Given the description of an element on the screen output the (x, y) to click on. 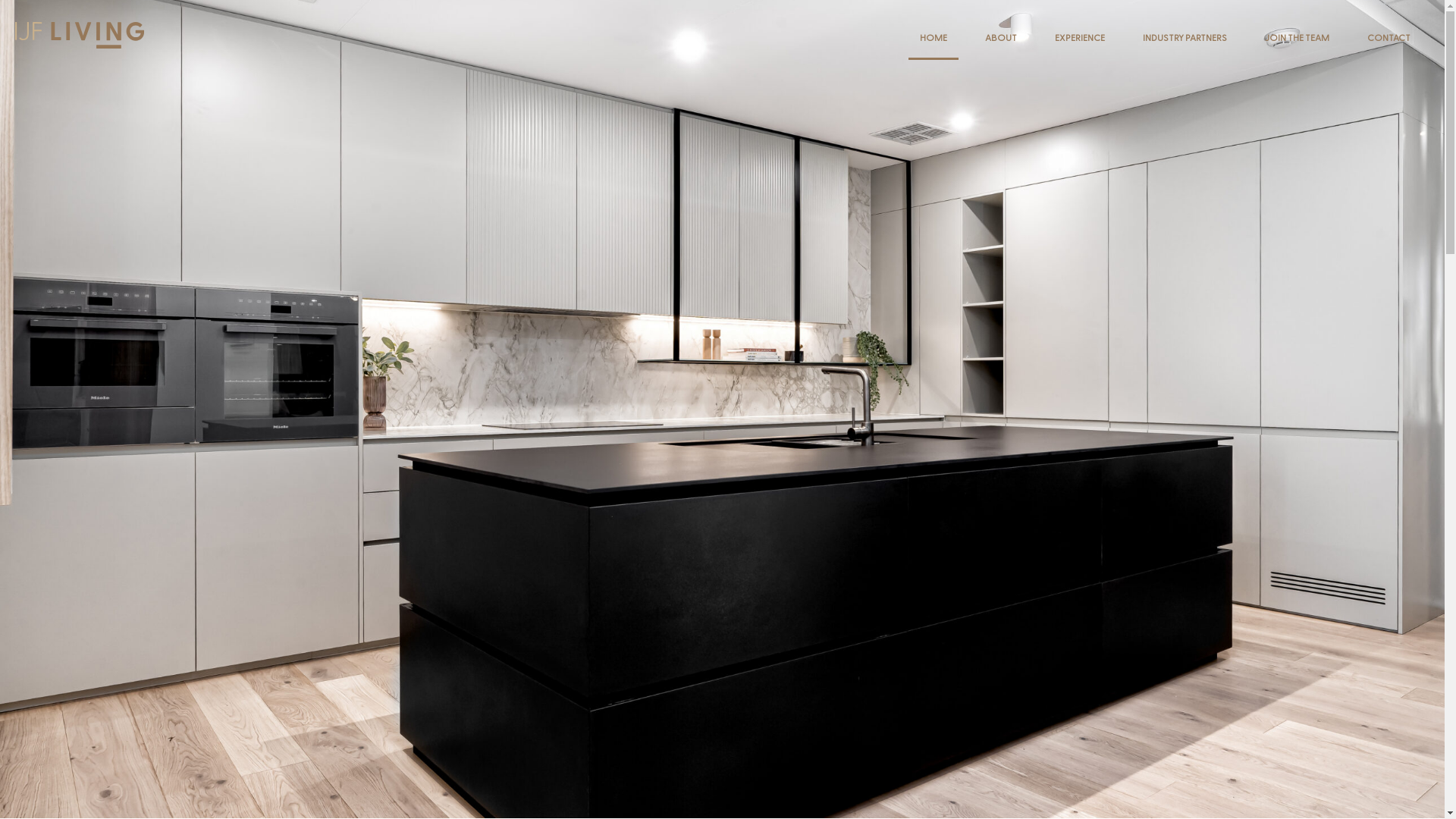
INDUSTRY PARTNERS Element type: text (1184, 37)
CONTACT Element type: text (1388, 37)
EXPERIENCE Element type: text (1079, 37)
ABOUT Element type: text (1000, 37)
JOIN THE TEAM Element type: text (1296, 37)
HOME Element type: text (933, 37)
